Given the description of an element on the screen output the (x, y) to click on. 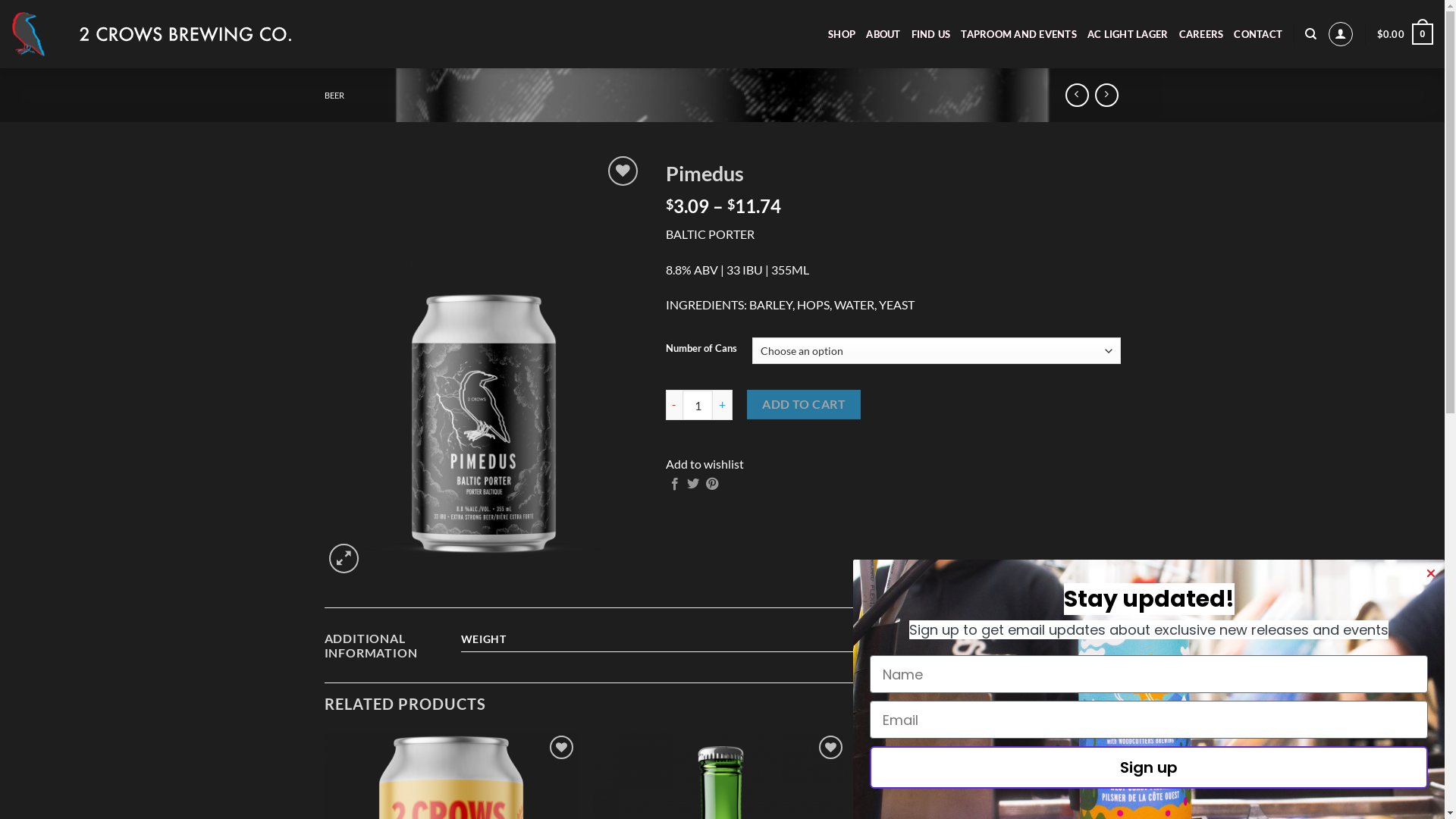
Share on Twitter Element type: hover (693, 484)
AC LIGHT LAGER Element type: text (1127, 33)
CONTACT Element type: text (1257, 33)
CAREERS Element type: text (1201, 33)
Pin on Pinterest Element type: hover (712, 484)
Zoom Element type: hover (343, 558)
Add to wishlist Element type: text (704, 463)
Submit Element type: text (39, 14)
TAPROOM AND EVENTS Element type: text (1018, 33)
BEER Element type: text (334, 95)
Share on Facebook Element type: hover (674, 484)
ADD TO CART Element type: text (802, 404)
SHOP Element type: text (841, 33)
Sign up Element type: text (1148, 767)
FIND US Element type: text (930, 33)
$0.00
0 Element type: text (1405, 33)
ABOUT Element type: text (883, 33)
